Given the description of an element on the screen output the (x, y) to click on. 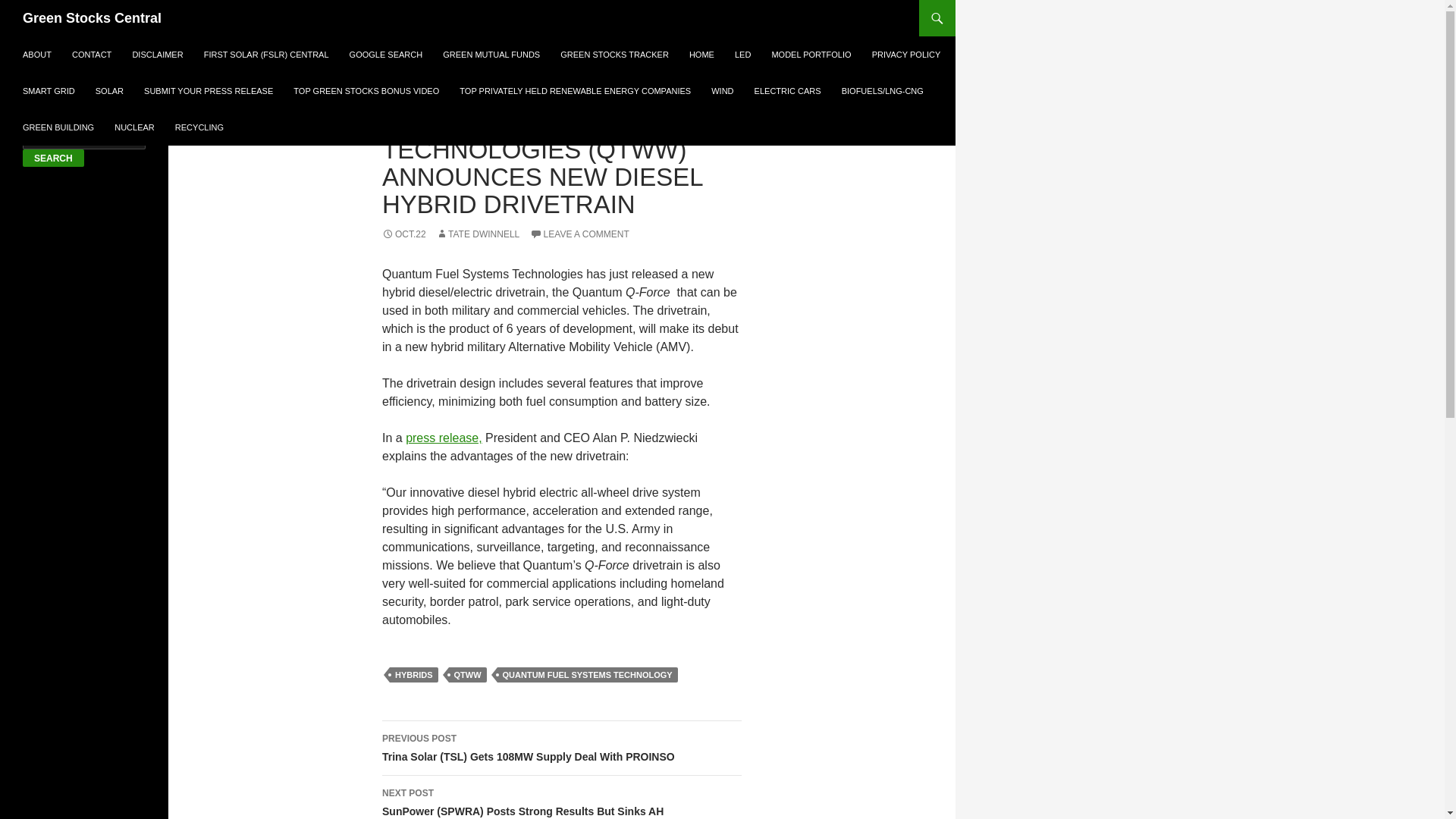
HOME (701, 54)
GREEN STOCKS TRACKER (614, 54)
LED (742, 54)
QUANTUM FUEL SYSTEMS TECHNOLOGY (587, 674)
TOP PRIVATELY HELD RENEWABLE ENERGY COMPANIES (574, 90)
CONTACT (91, 54)
SMART GRID (48, 90)
Search (53, 158)
Search (53, 158)
